Given the description of an element on the screen output the (x, y) to click on. 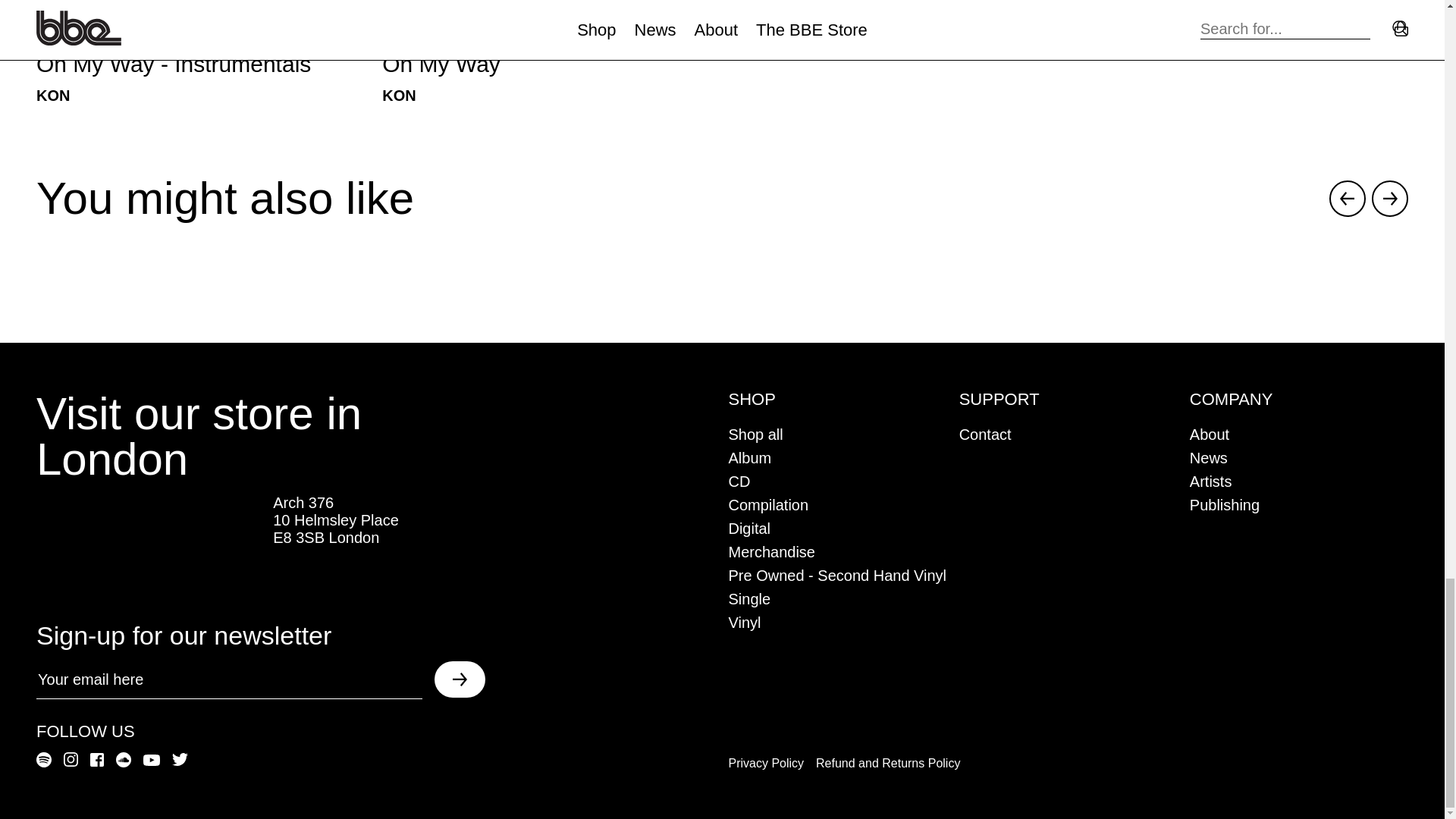
Merchandise (771, 551)
Privacy Policy (548, 51)
News (765, 762)
About (1208, 457)
bbe241cover.jpg (1208, 434)
Artists (202, 51)
Publishing (548, 17)
CD (1210, 481)
Compilation (1224, 504)
Single (738, 481)
Shop all (768, 504)
Digital (749, 598)
Album (755, 434)
